Given the description of an element on the screen output the (x, y) to click on. 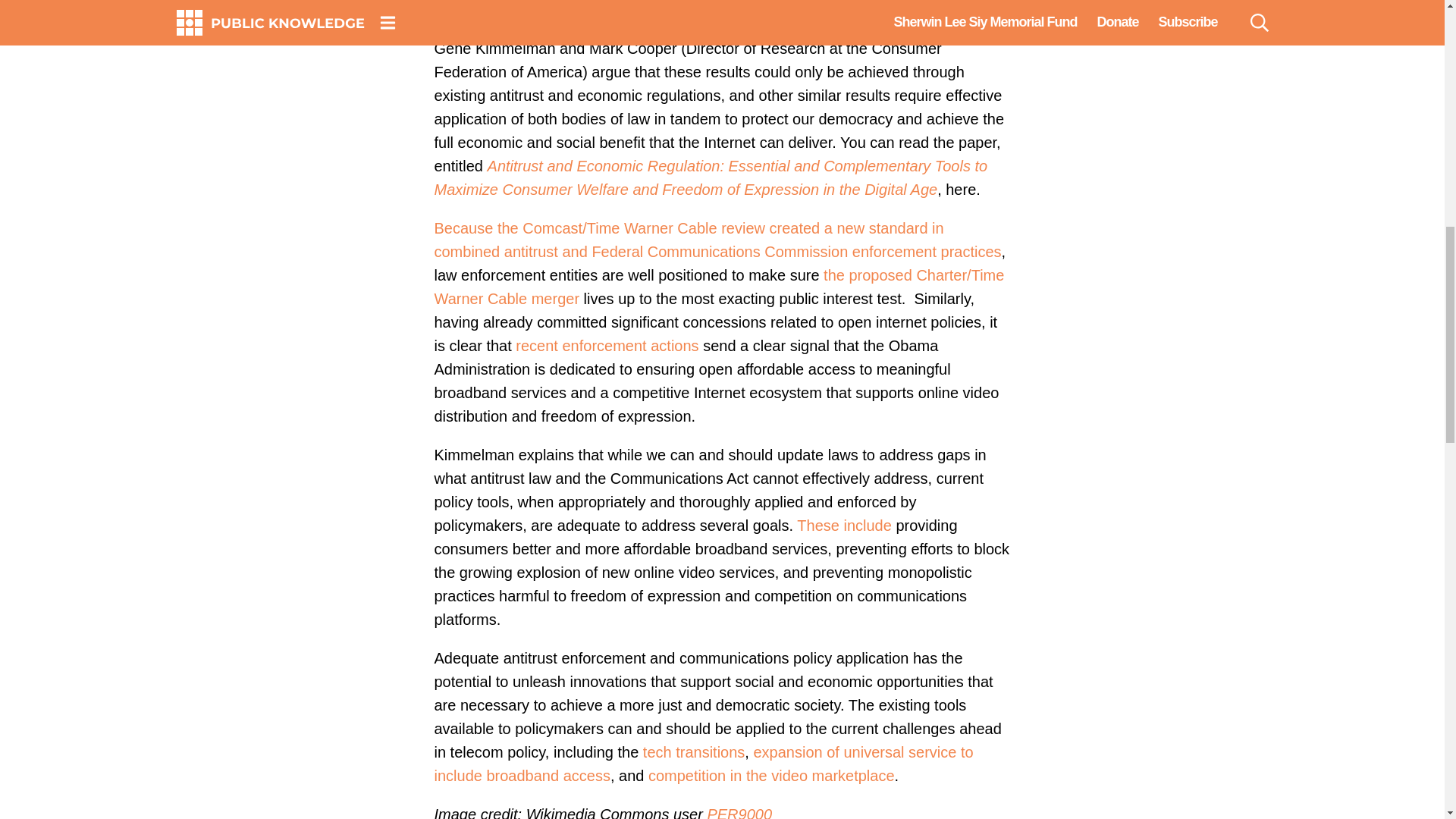
These include (843, 524)
Harvard Journal of Law and Policy (781, 24)
recent enforcement actions (606, 345)
